Given the description of an element on the screen output the (x, y) to click on. 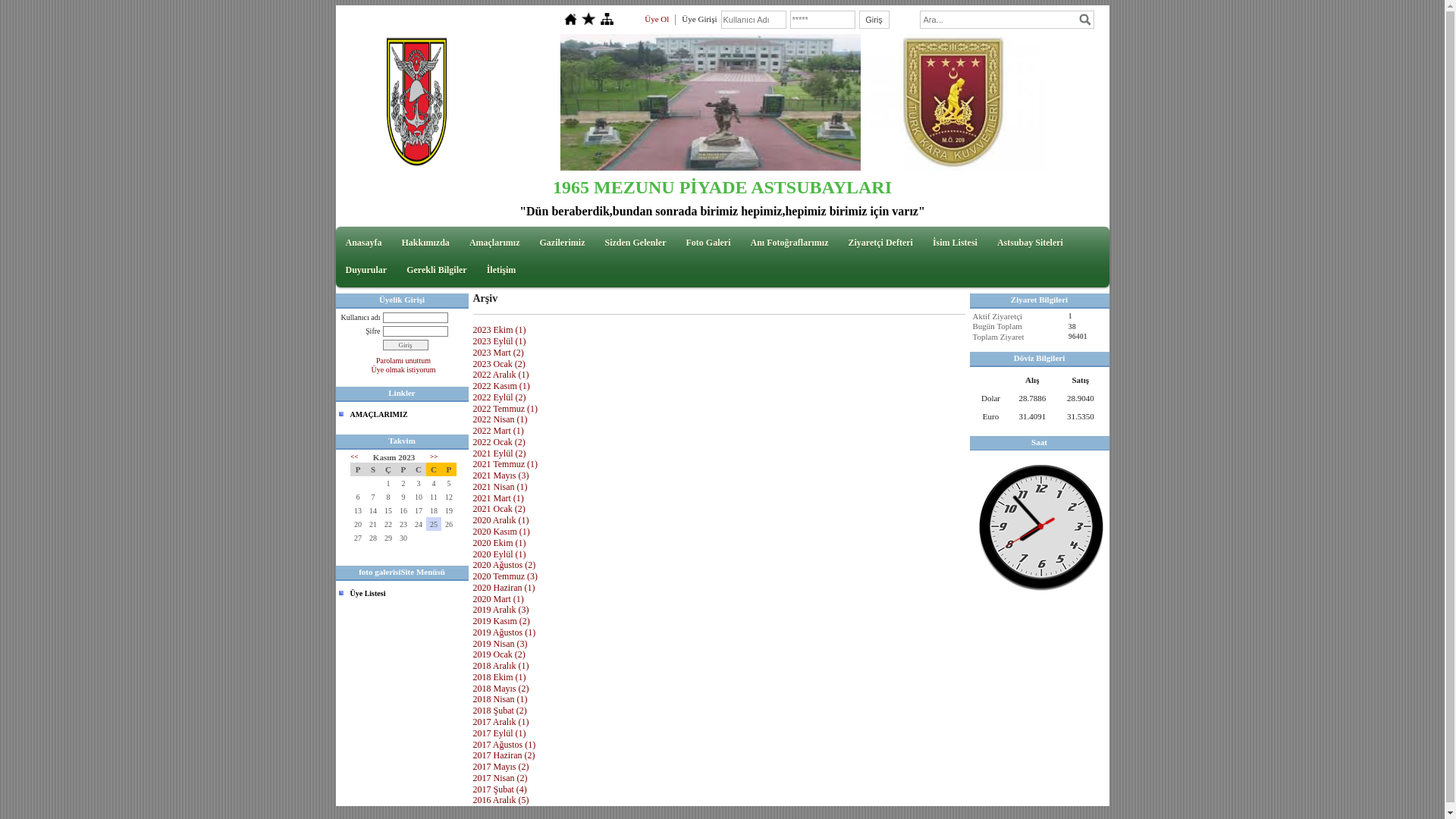
Anasayfa Element type: text (363, 242)
2020 Haziran (1) Element type: text (504, 587)
2023 Ocak (2) Element type: text (499, 362)
Astsubay Siteleri Element type: text (1030, 242)
2023 Ekim (1) Element type: text (499, 329)
4 Element type: text (433, 482)
26 Element type: text (448, 523)
2022 Mart (1) Element type: text (498, 430)
2021 Temmuz (1) Element type: text (505, 463)
2019 Ocak (2) Element type: text (499, 654)
8 Element type: text (387, 496)
19 Element type: text (448, 510)
23 Element type: text (403, 523)
6 Element type: text (357, 496)
Foto Galeri Element type: text (707, 242)
Gazilerimiz Element type: text (562, 242)
25 Element type: text (433, 523)
Sizden Gelenler Element type: text (635, 242)
2020 Ekim (1) Element type: text (499, 542)
2018 Ekim (1) Element type: text (499, 676)
2021 Mart (1) Element type: text (498, 497)
29 Element type: text (387, 537)
14 Element type: text (372, 510)
5 Element type: text (448, 482)
16 Element type: text (403, 510)
11 Element type: text (433, 496)
2017 Nisan (2) Element type: text (500, 777)
2017 Haziran (2) Element type: text (504, 754)
<< Element type: text (353, 456)
2 Element type: text (403, 482)
7 Element type: text (372, 496)
9 Element type: text (403, 496)
17 Element type: text (418, 510)
15 Element type: text (387, 510)
10 Element type: text (418, 496)
Duyurular Element type: text (366, 269)
2019 Nisan (3) Element type: text (500, 643)
3 Element type: text (418, 482)
2018 Nisan (1) Element type: text (500, 698)
12 Element type: text (448, 496)
2021 Nisan (1) Element type: text (500, 486)
2022 Temmuz (1) Element type: text (505, 408)
13 Element type: text (357, 510)
2020 Temmuz (3) Element type: text (505, 576)
2022 Ocak (2) Element type: text (499, 441)
Gerekli Bilgiler Element type: text (436, 269)
1 Element type: text (387, 482)
27 Element type: text (357, 537)
>> Element type: text (433, 456)
30 Element type: text (403, 537)
21 Element type: text (372, 523)
2020 Mart (1) Element type: text (498, 598)
2023 Mart (2) Element type: text (498, 352)
24 Element type: text (418, 523)
18 Element type: text (433, 510)
28 Element type: text (372, 537)
22 Element type: text (387, 523)
2021 Ocak (2) Element type: text (499, 508)
20 Element type: text (357, 523)
2022 Nisan (1) Element type: text (500, 419)
